Given the description of an element on the screen output the (x, y) to click on. 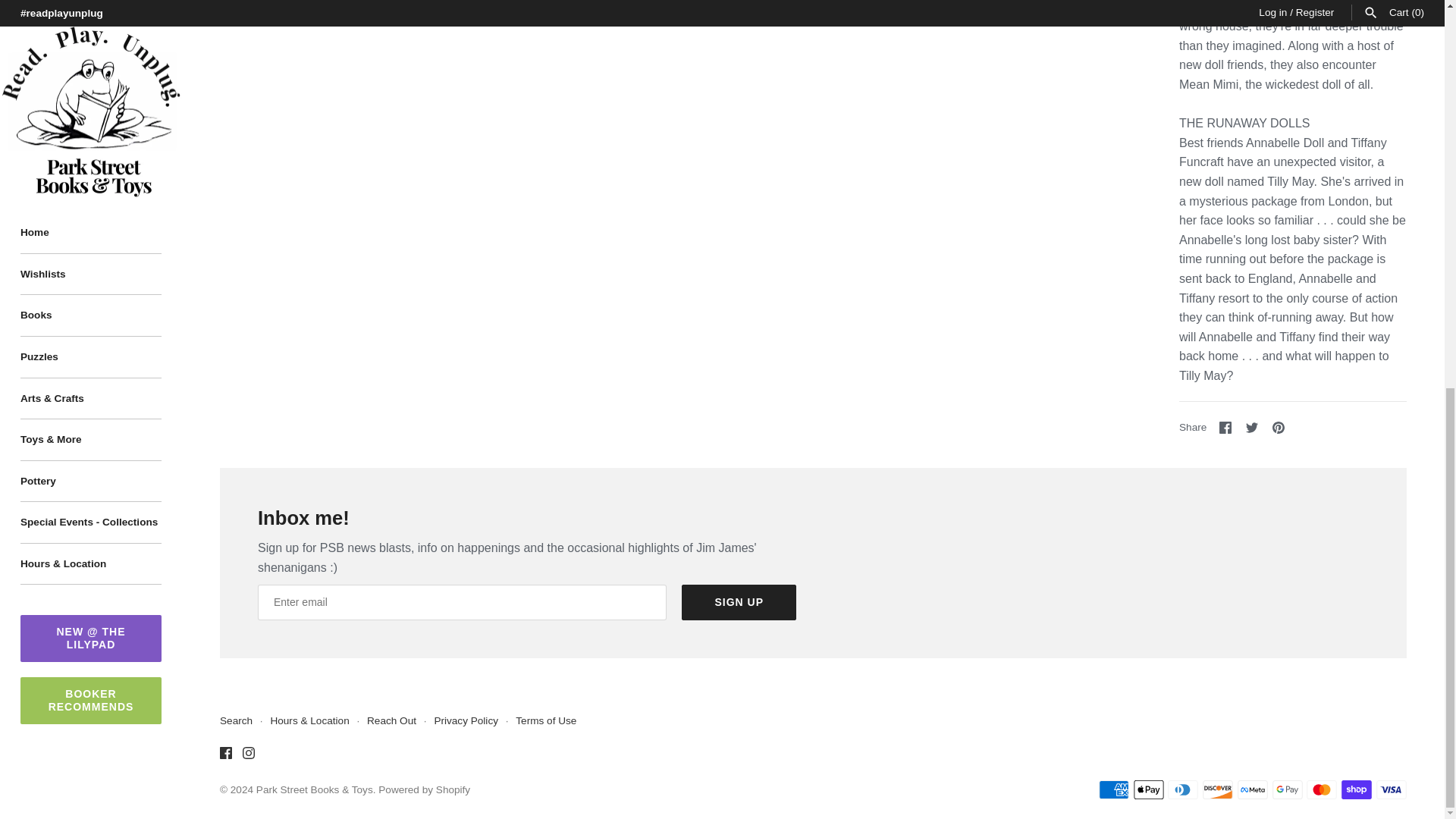
Shop Pay (1355, 789)
American Express (1114, 789)
Discover (1217, 789)
Apple Pay (1148, 789)
Google Pay (1287, 789)
Diners Club (1182, 789)
Visa (1390, 789)
Facebook (1225, 427)
Pinterest (1225, 427)
